Given the description of an element on the screen output the (x, y) to click on. 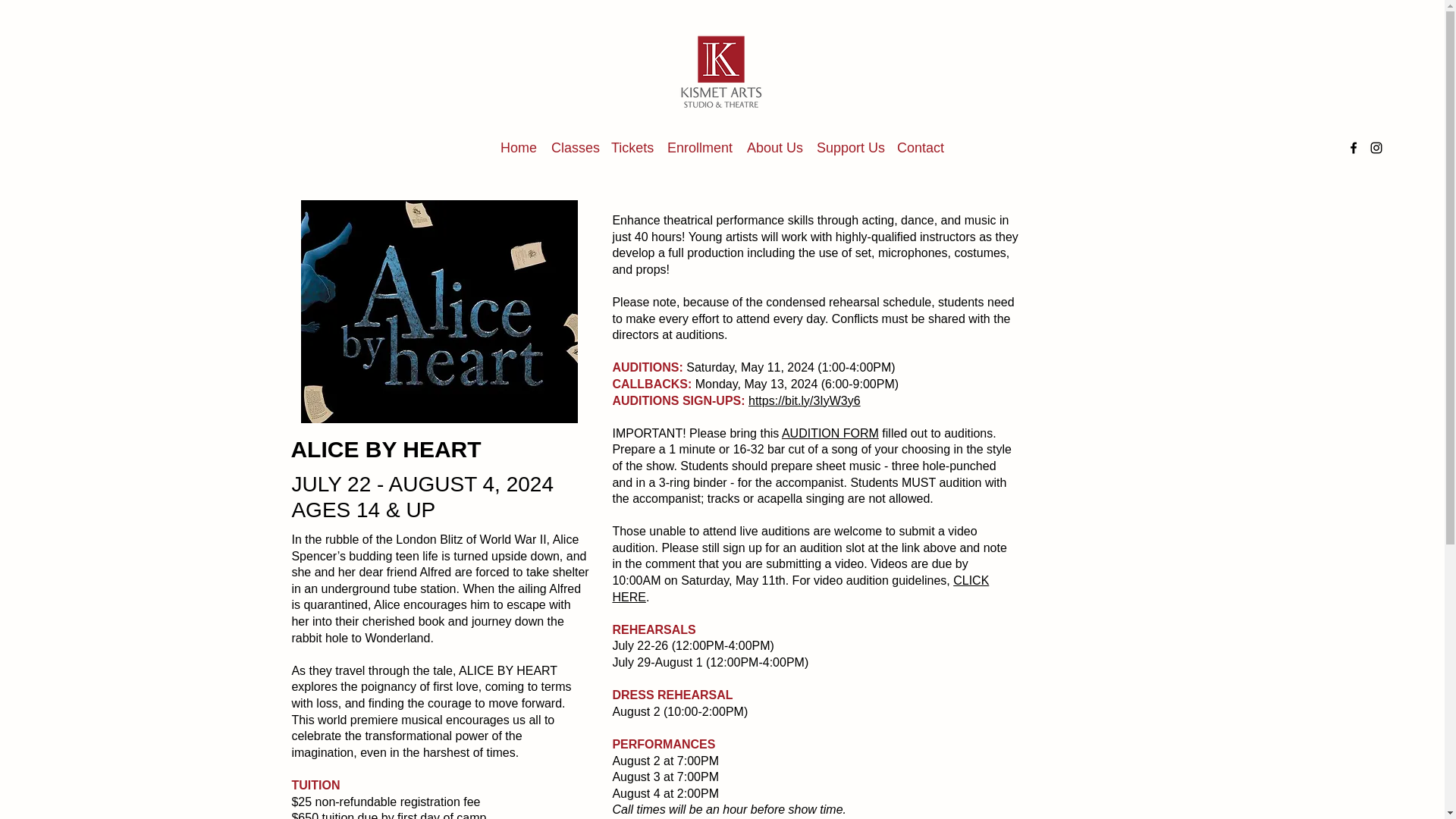
Contact (920, 147)
Classes (573, 147)
AUDITION FORM (830, 432)
Home (518, 147)
Support Us (849, 147)
Tickets (631, 147)
CLICK HERE (799, 588)
